Given the description of an element on the screen output the (x, y) to click on. 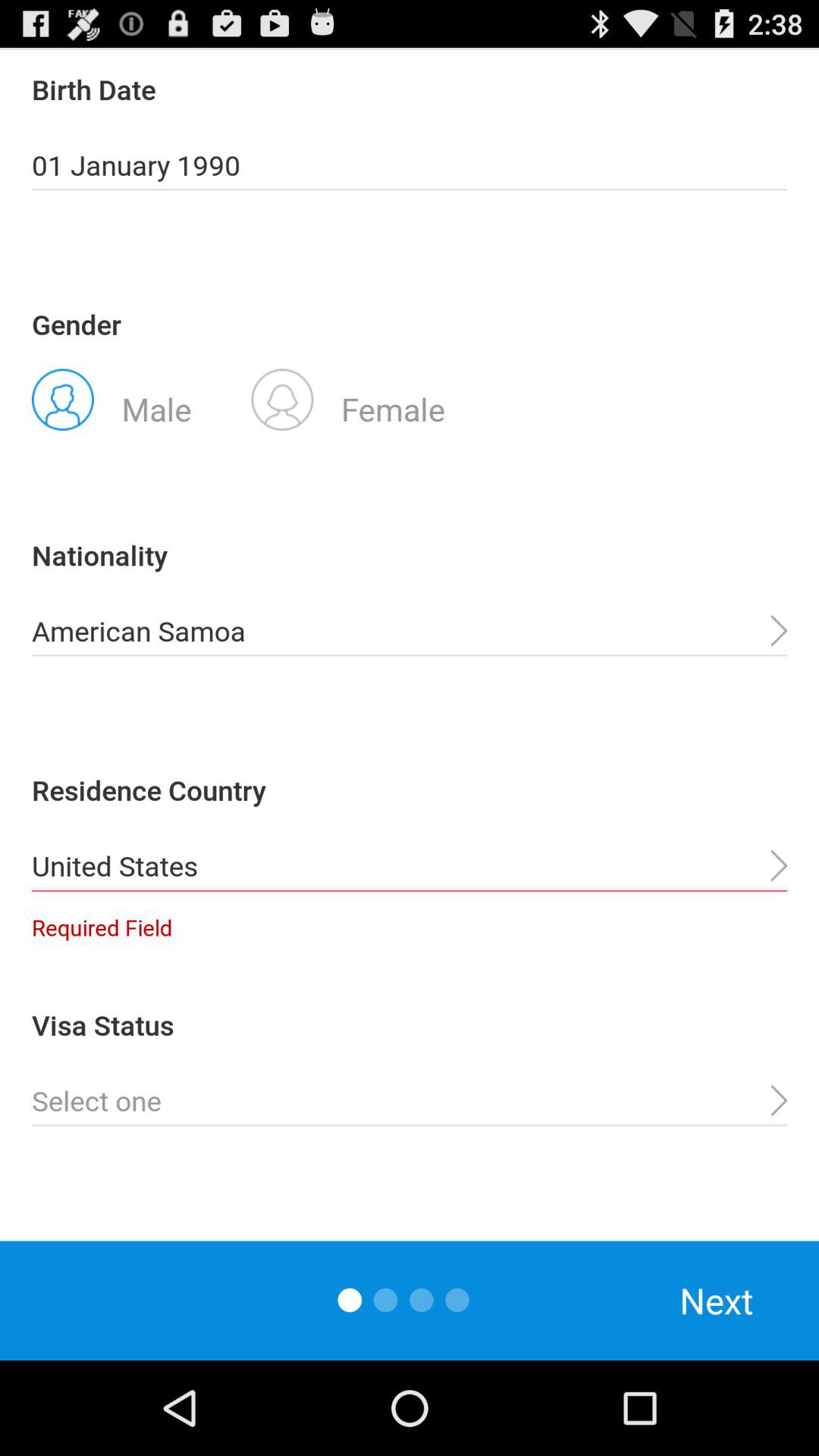
scroll until the male (111, 398)
